Given the description of an element on the screen output the (x, y) to click on. 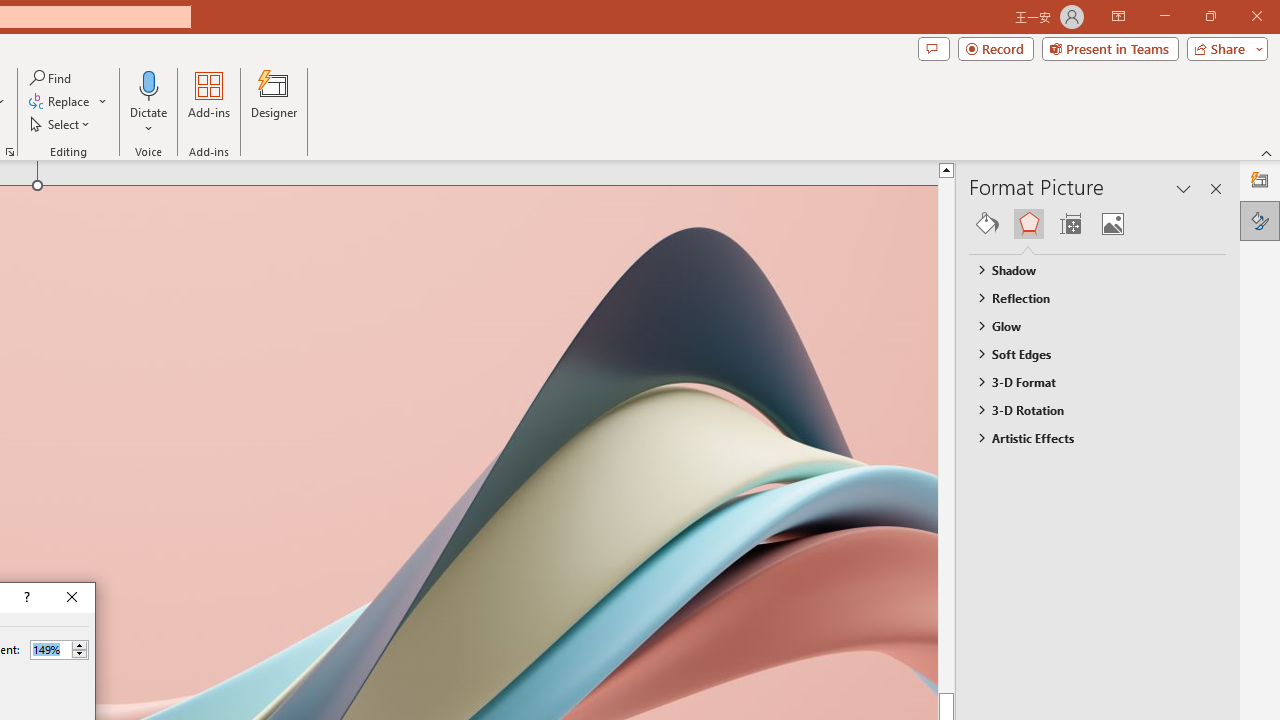
Task Pane Options (1183, 188)
Class: NetUIGalleryContainer (1098, 223)
Context help (25, 597)
3-D Format (1088, 381)
Replace... (68, 101)
Less (79, 654)
3-D Rotation (1088, 410)
Shadow (1088, 269)
Format Object... (9, 151)
Close pane (1215, 188)
Dictate (149, 84)
